Given the description of an element on the screen output the (x, y) to click on. 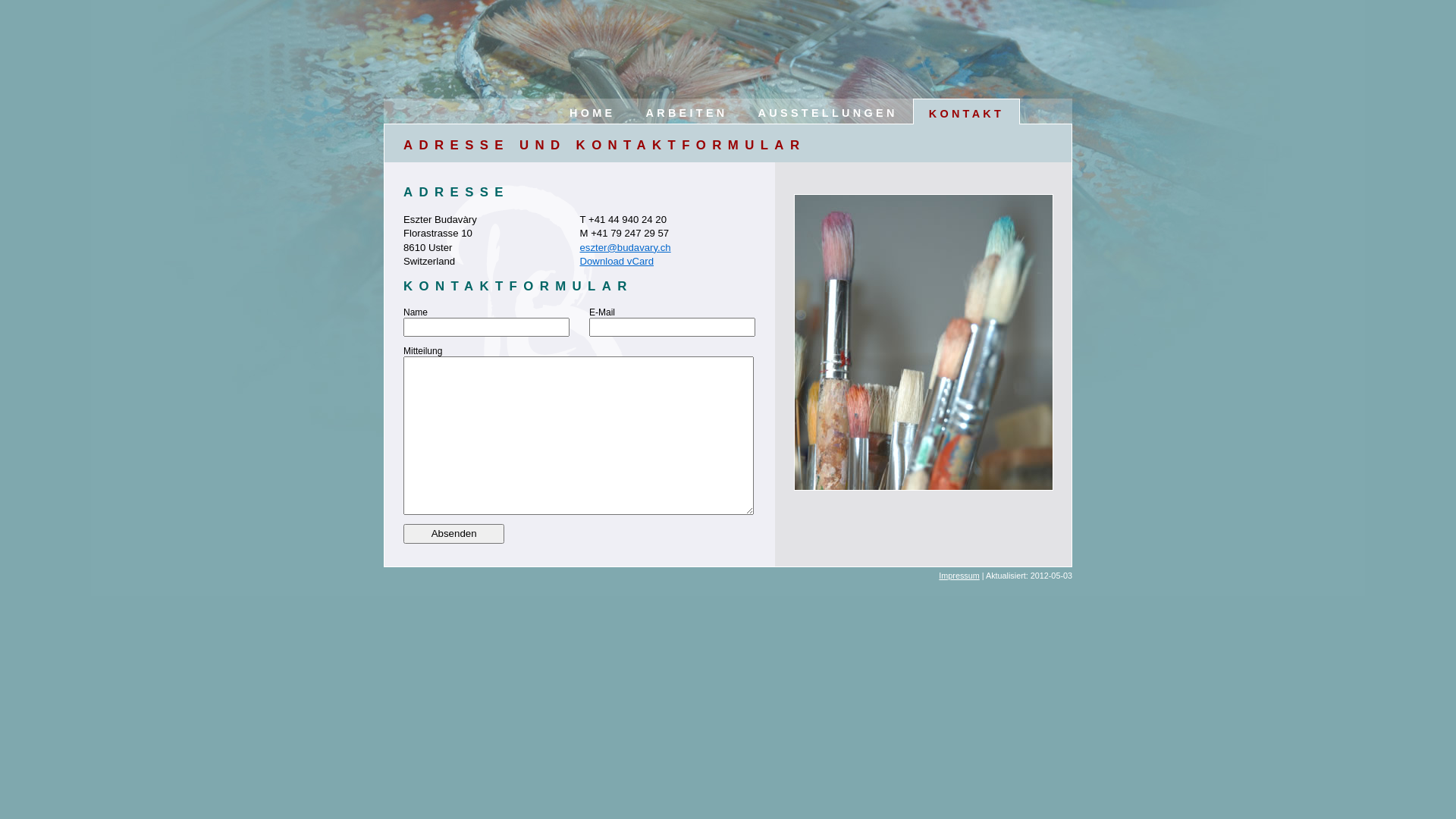
Impressum Element type: text (958, 575)
Absenden Element type: text (453, 533)
HOME Element type: text (592, 110)
eszter@budavary.ch Element type: text (624, 247)
AUSSTELLUNGEN Element type: text (828, 110)
KONTAKT Element type: text (966, 111)
Download vCard Element type: text (616, 260)
ARBEITEN Element type: text (686, 110)
